Given the description of an element on the screen output the (x, y) to click on. 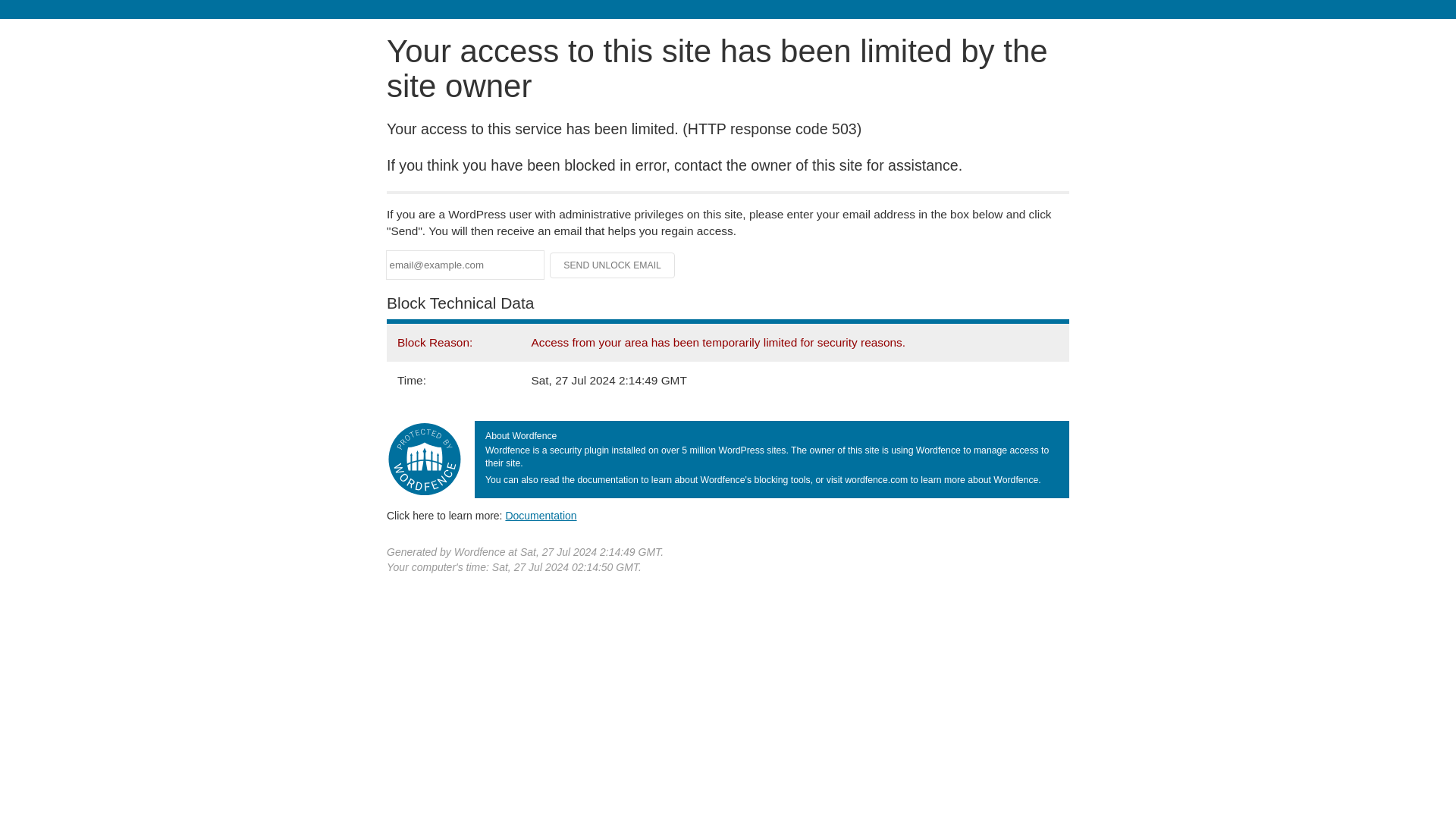
Documentation (540, 515)
Send Unlock Email (612, 265)
Send Unlock Email (612, 265)
